Given the description of an element on the screen output the (x, y) to click on. 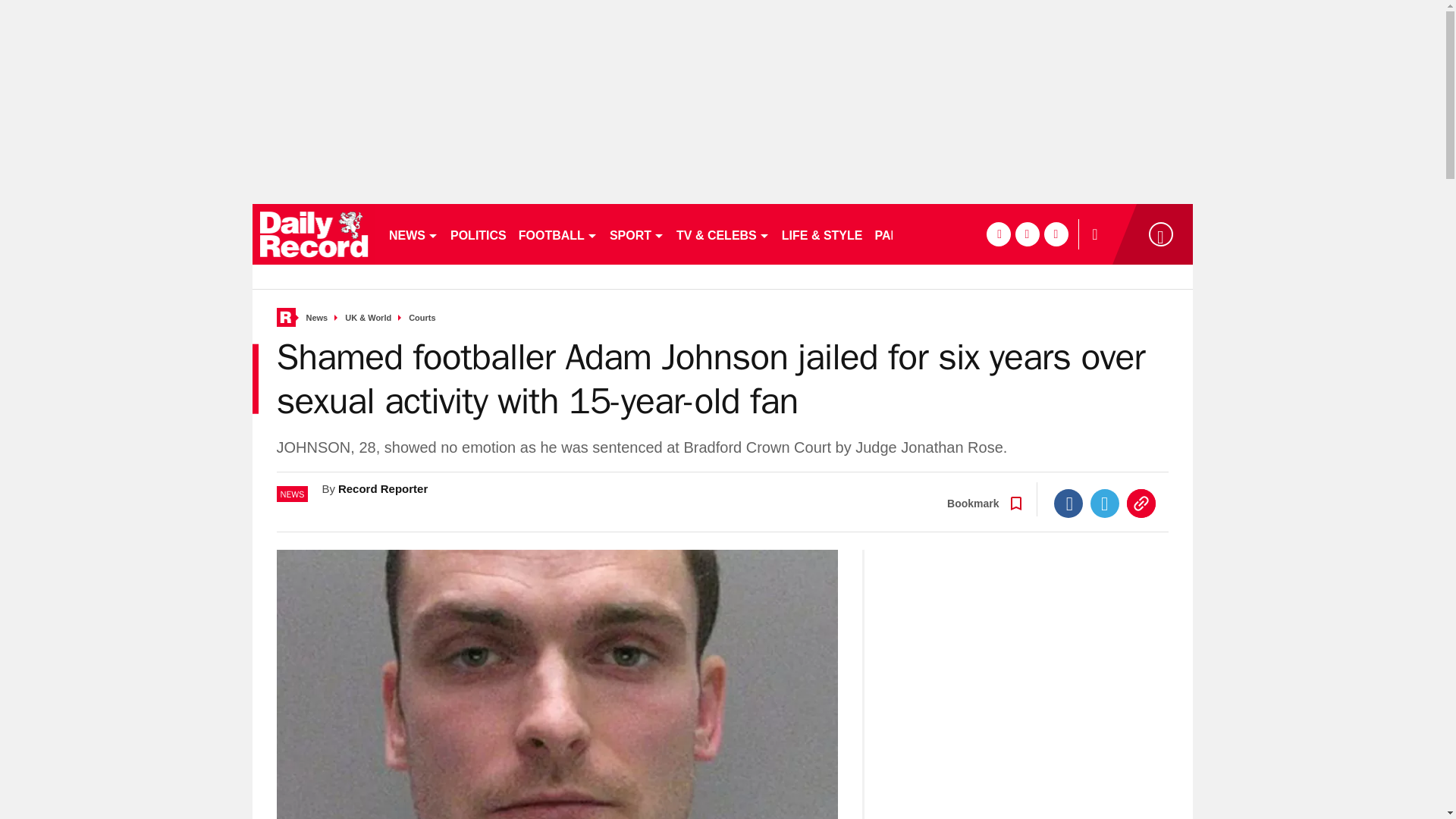
instagram (1055, 233)
NEWS (413, 233)
Facebook (1068, 502)
POLITICS (478, 233)
dailyrecord (313, 233)
facebook (997, 233)
SPORT (636, 233)
FOOTBALL (558, 233)
Twitter (1104, 502)
twitter (1026, 233)
